Given the description of an element on the screen output the (x, y) to click on. 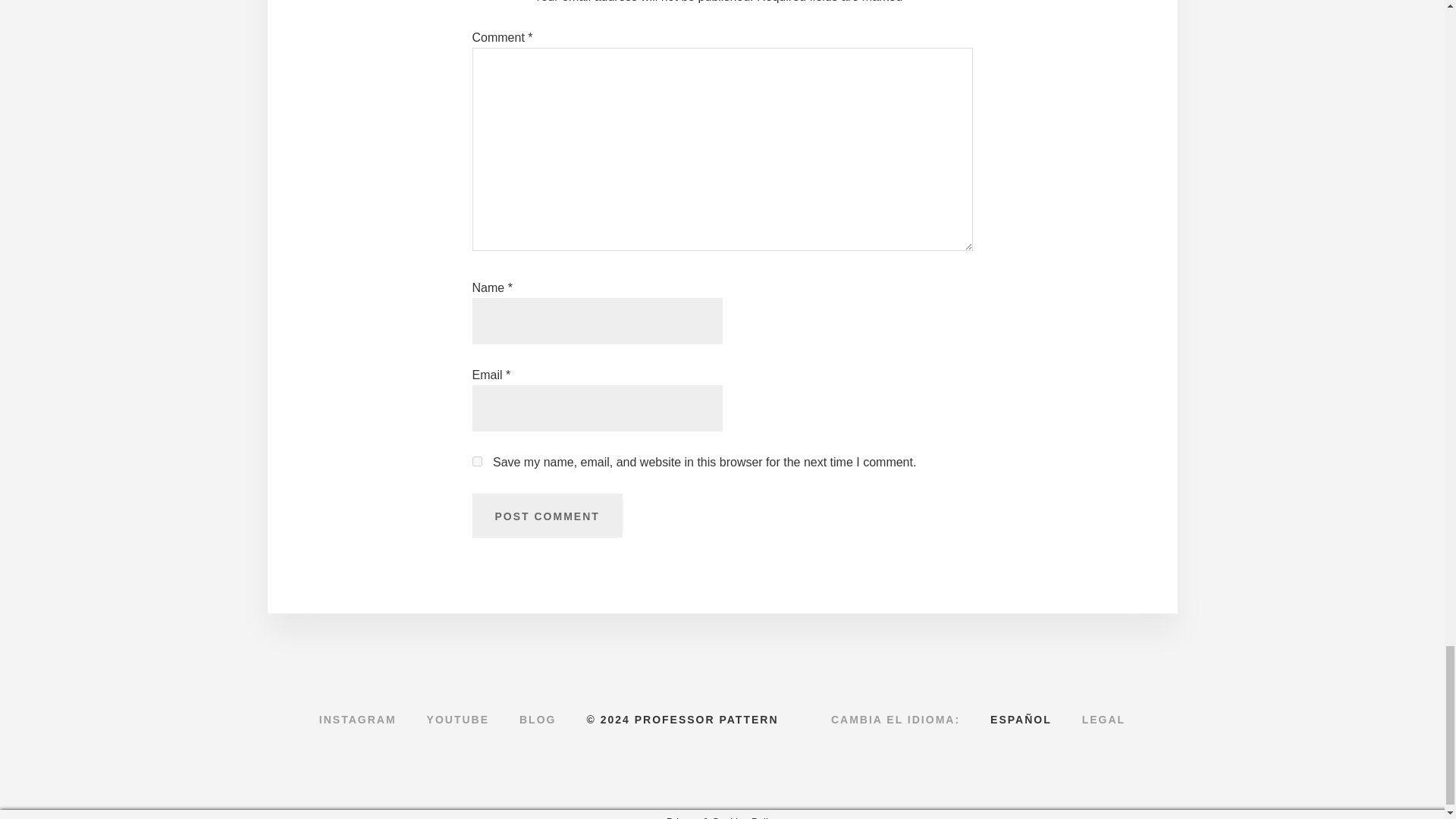
YOUTUBE (457, 719)
Post Comment (546, 515)
INSTAGRAM (358, 719)
BLOG (536, 719)
CAMBIA EL IDIOMA: (895, 719)
Post Comment (546, 515)
LEGAL (1103, 719)
yes (476, 461)
